Given the description of an element on the screen output the (x, y) to click on. 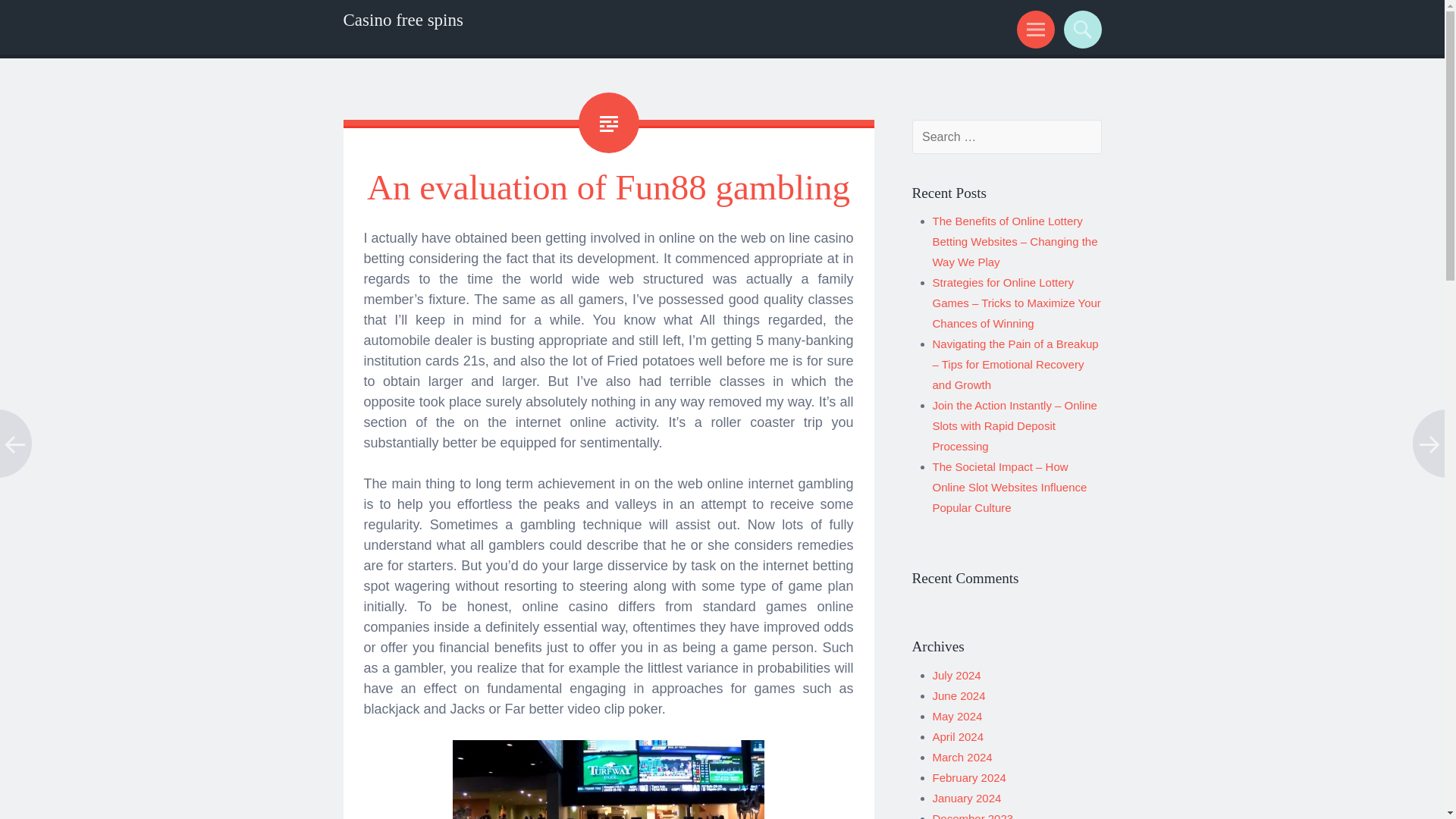
July 2024 (957, 675)
Search (1080, 29)
Menu (1032, 29)
Casino free spins (402, 19)
December 2023 (973, 815)
January 2024 (967, 797)
April 2024 (958, 736)
March 2024 (962, 757)
May 2024 (957, 716)
February 2024 (969, 777)
